Given the description of an element on the screen output the (x, y) to click on. 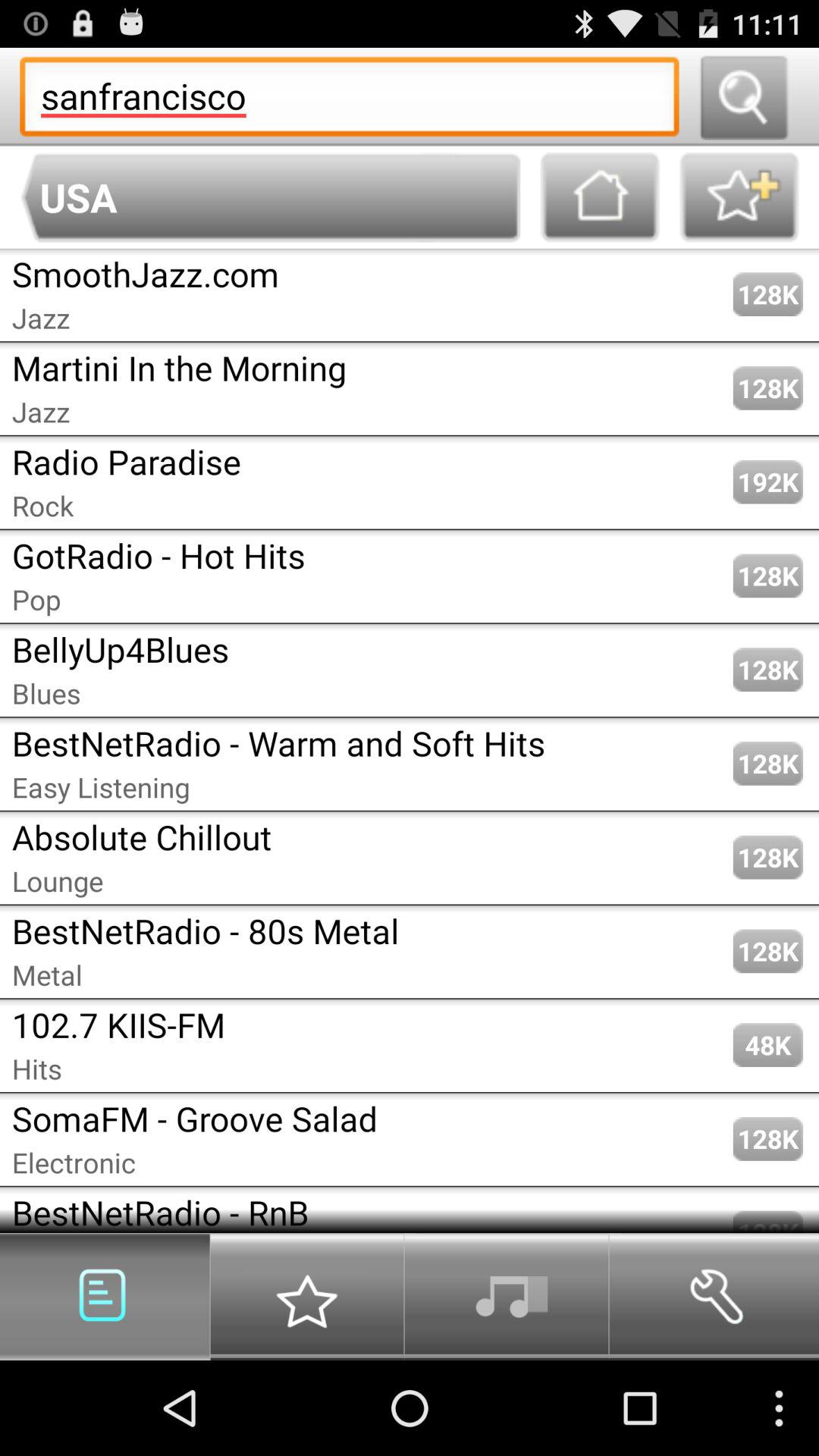
home button (599, 197)
